Given the description of an element on the screen output the (x, y) to click on. 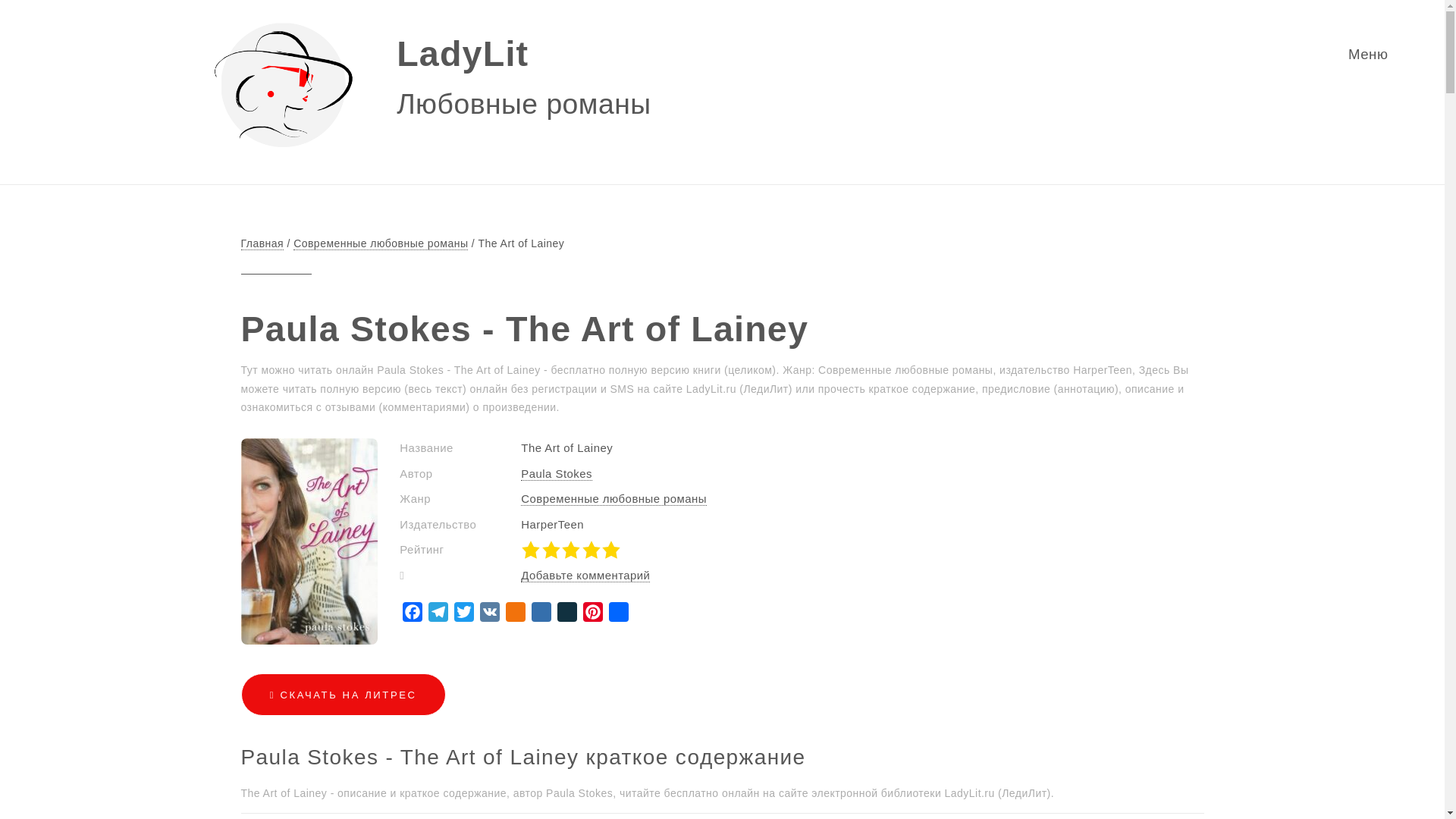
Telegram (438, 614)
VK (489, 614)
Facebook (411, 614)
Pinterest (592, 614)
Odnoklassniki (515, 614)
Mail.Ru (541, 614)
LiveJournal (566, 614)
VK (489, 614)
Pinterest (592, 614)
LadyLit (462, 53)
